Given the description of an element on the screen output the (x, y) to click on. 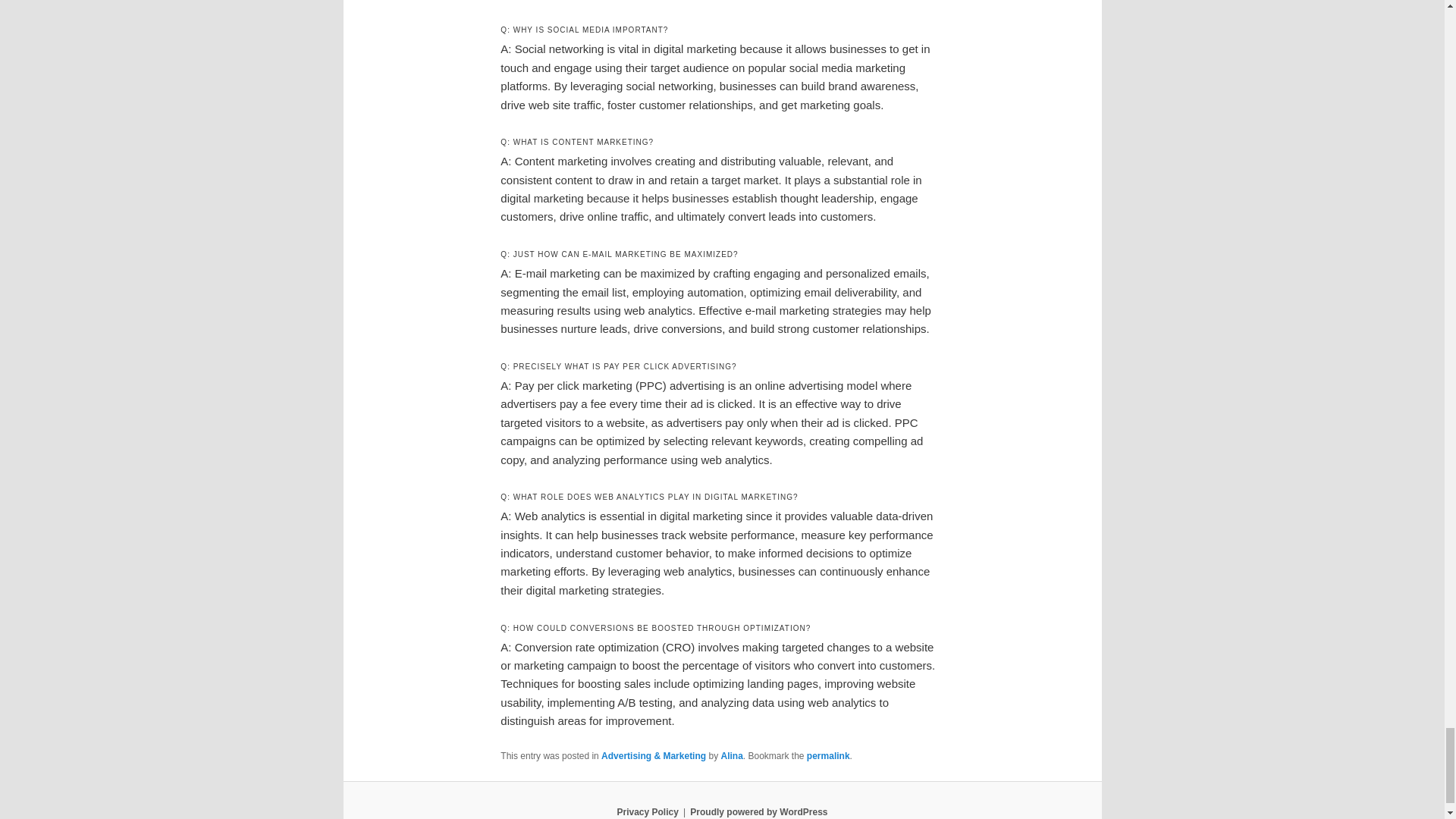
permalink (828, 756)
Privacy Policy (646, 811)
Proudly powered by WordPress (758, 811)
Alina (731, 756)
Semantic Personal Publishing Platform (758, 811)
